Given the description of an element on the screen output the (x, y) to click on. 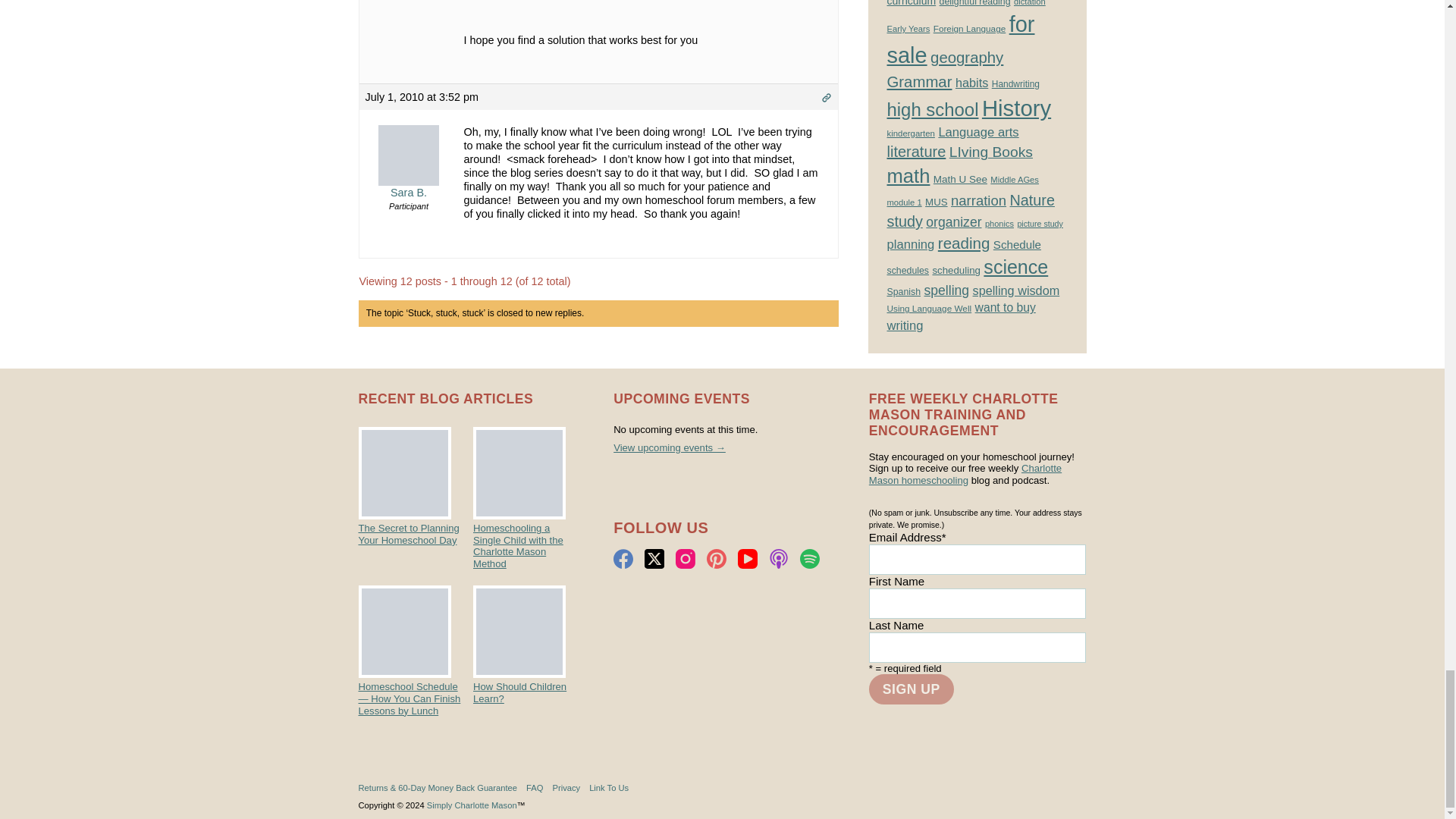
Sign Up (911, 689)
